Given the description of an element on the screen output the (x, y) to click on. 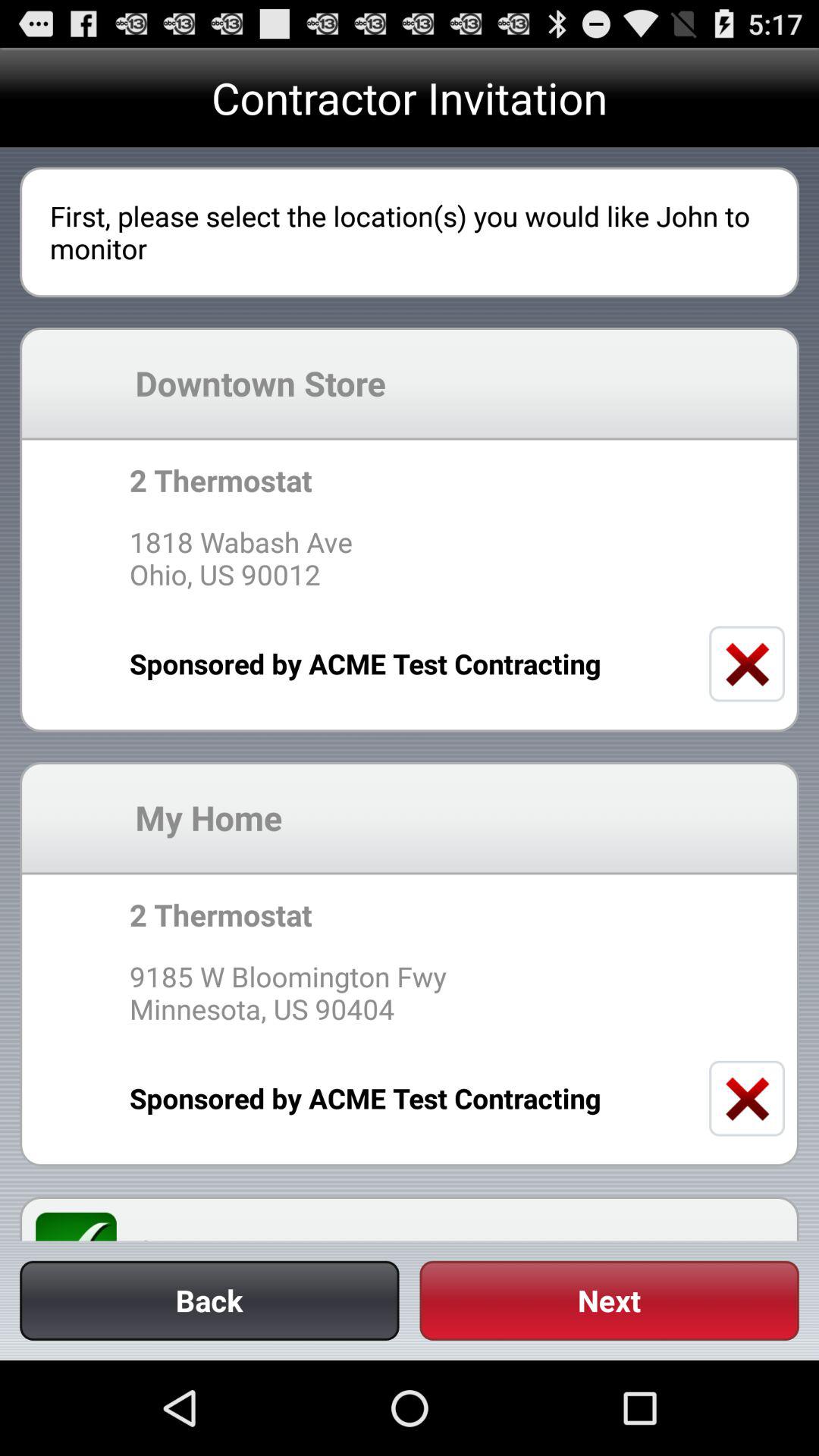
swipe until back button (209, 1300)
